Given the description of an element on the screen output the (x, y) to click on. 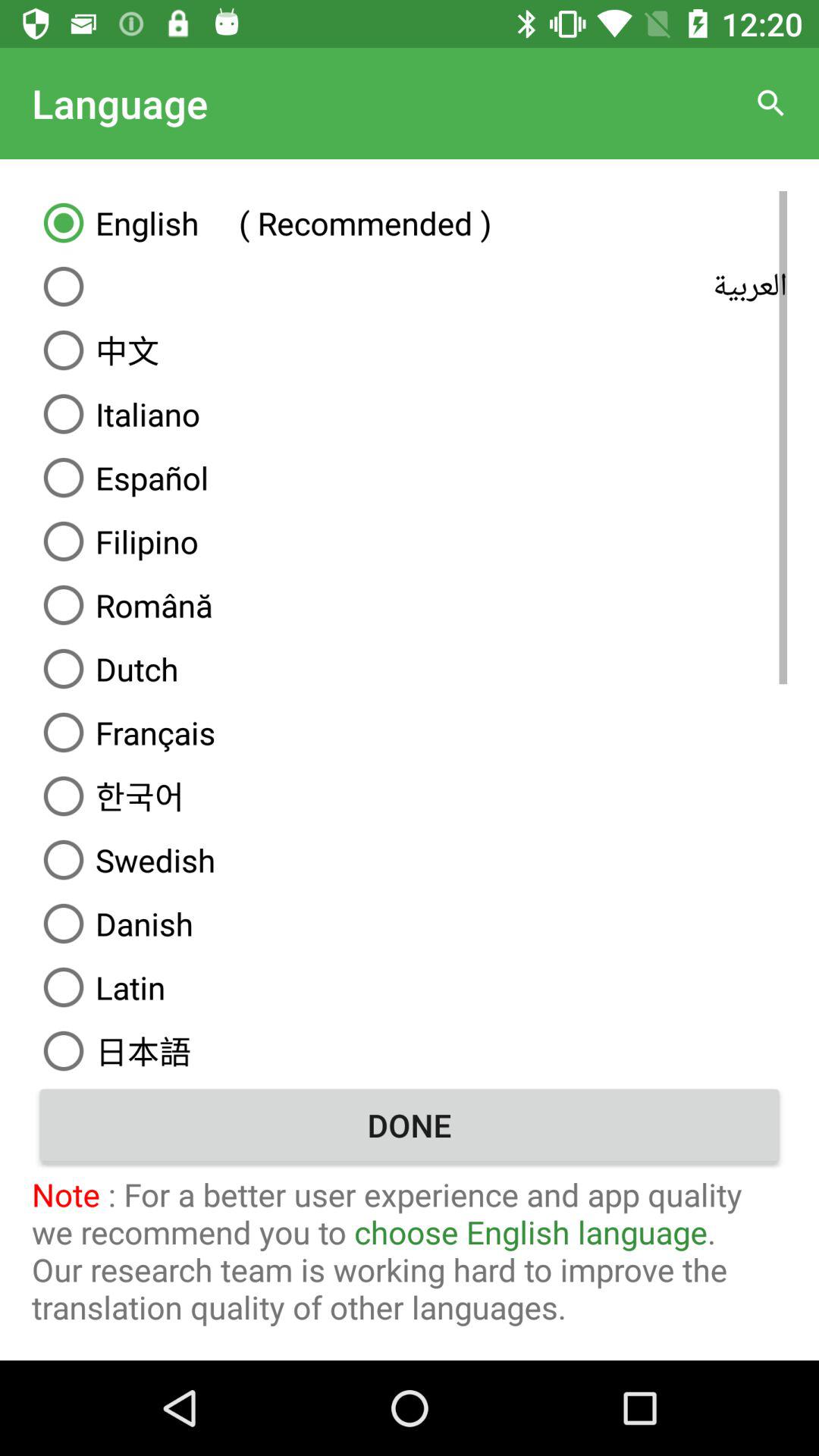
jump to the dutch item (409, 668)
